Given the description of an element on the screen output the (x, y) to click on. 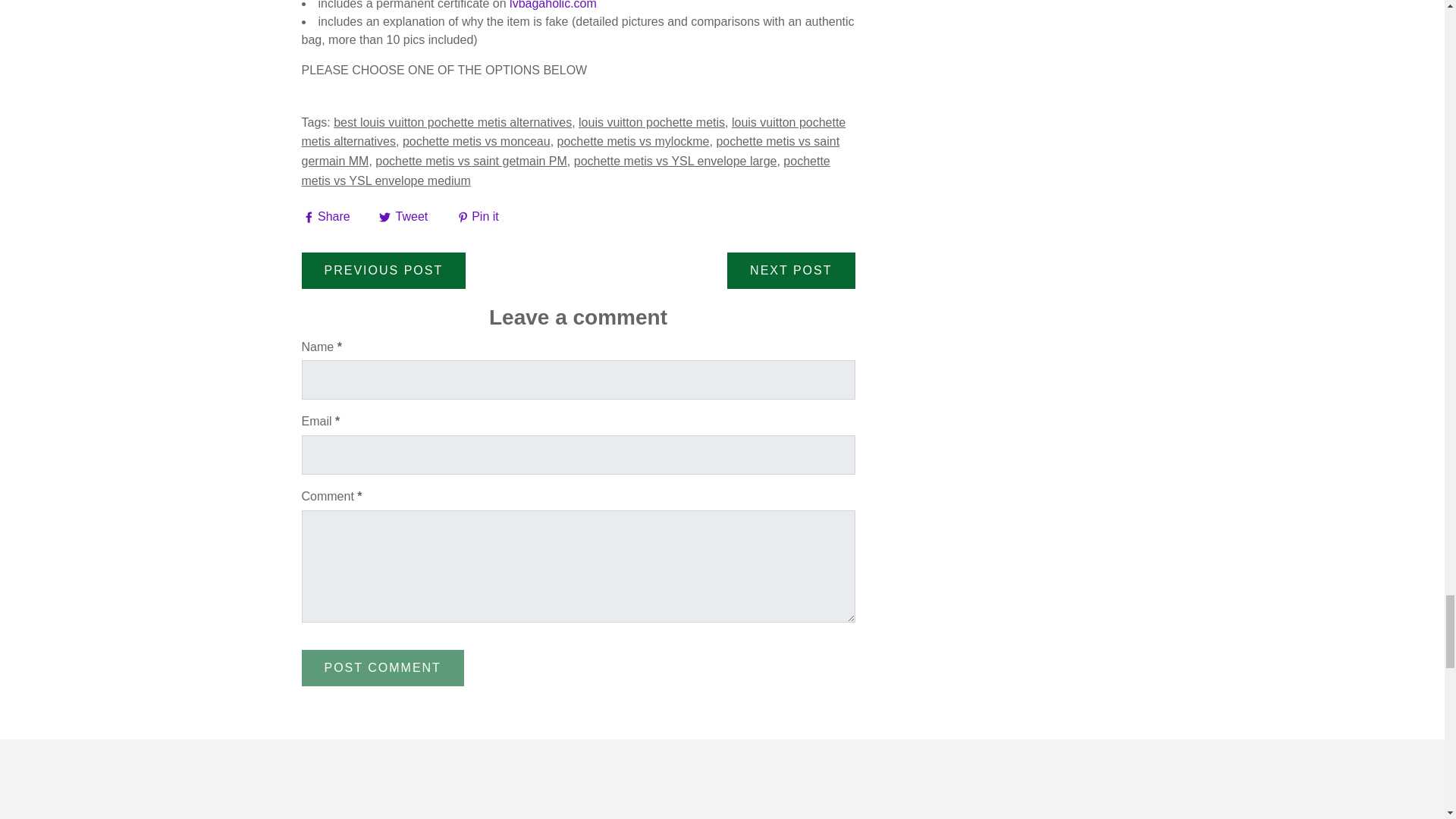
Post comment (382, 668)
louis vuitton gucci authentication (552, 4)
